Given the description of an element on the screen output the (x, y) to click on. 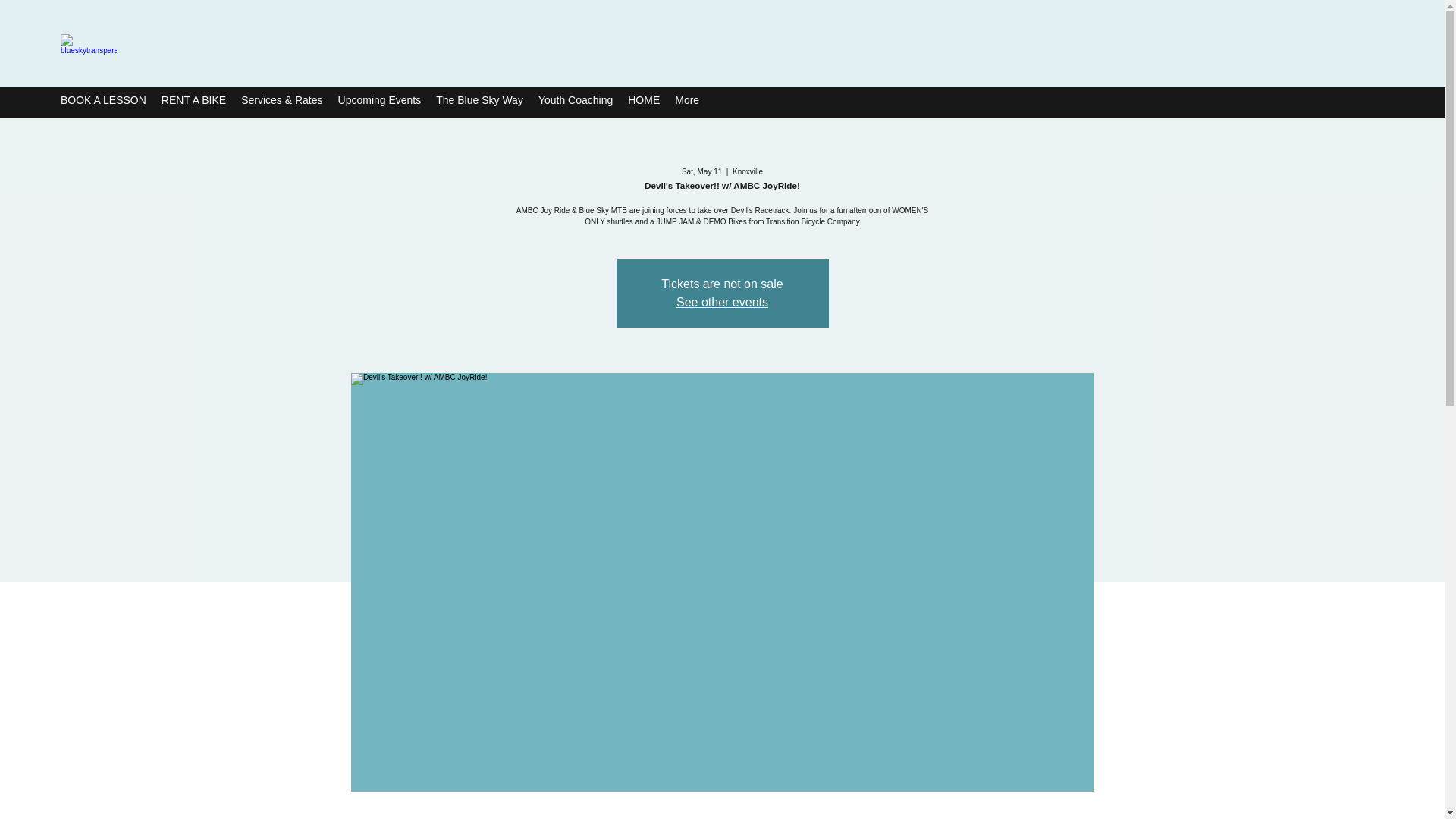
See other events (722, 301)
BOOK A LESSON (103, 101)
Youth Coaching (575, 101)
RENT A BIKE (193, 101)
The Blue Sky Way (479, 101)
HOME (643, 101)
Upcoming Events (379, 101)
